Given the description of an element on the screen output the (x, y) to click on. 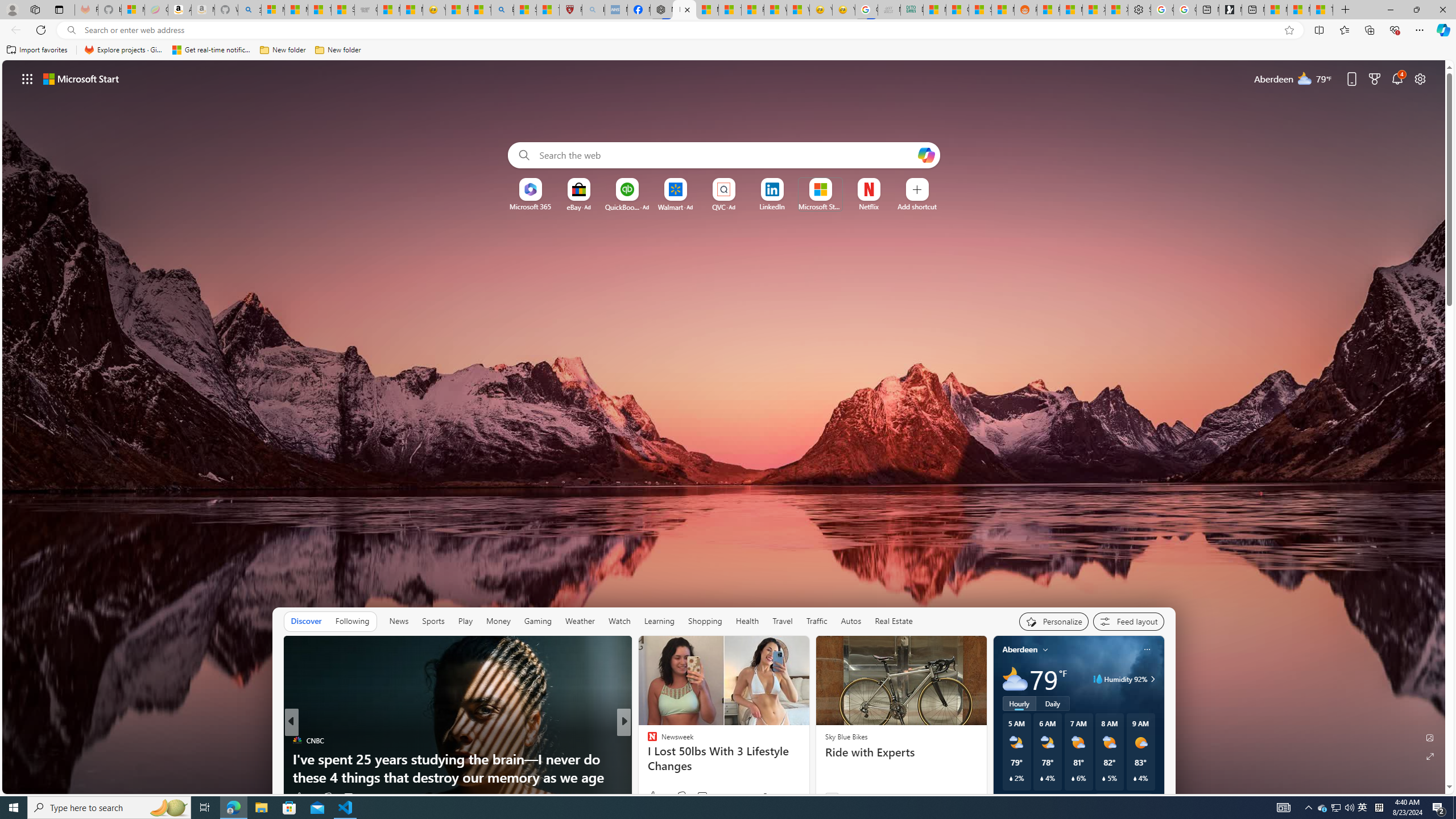
MetroOpinion (663, 758)
View comments 100 Comment (703, 797)
View comments 9 Comment (702, 796)
Expand background (1430, 756)
Class: icon-img (1146, 649)
